Given the description of an element on the screen output the (x, y) to click on. 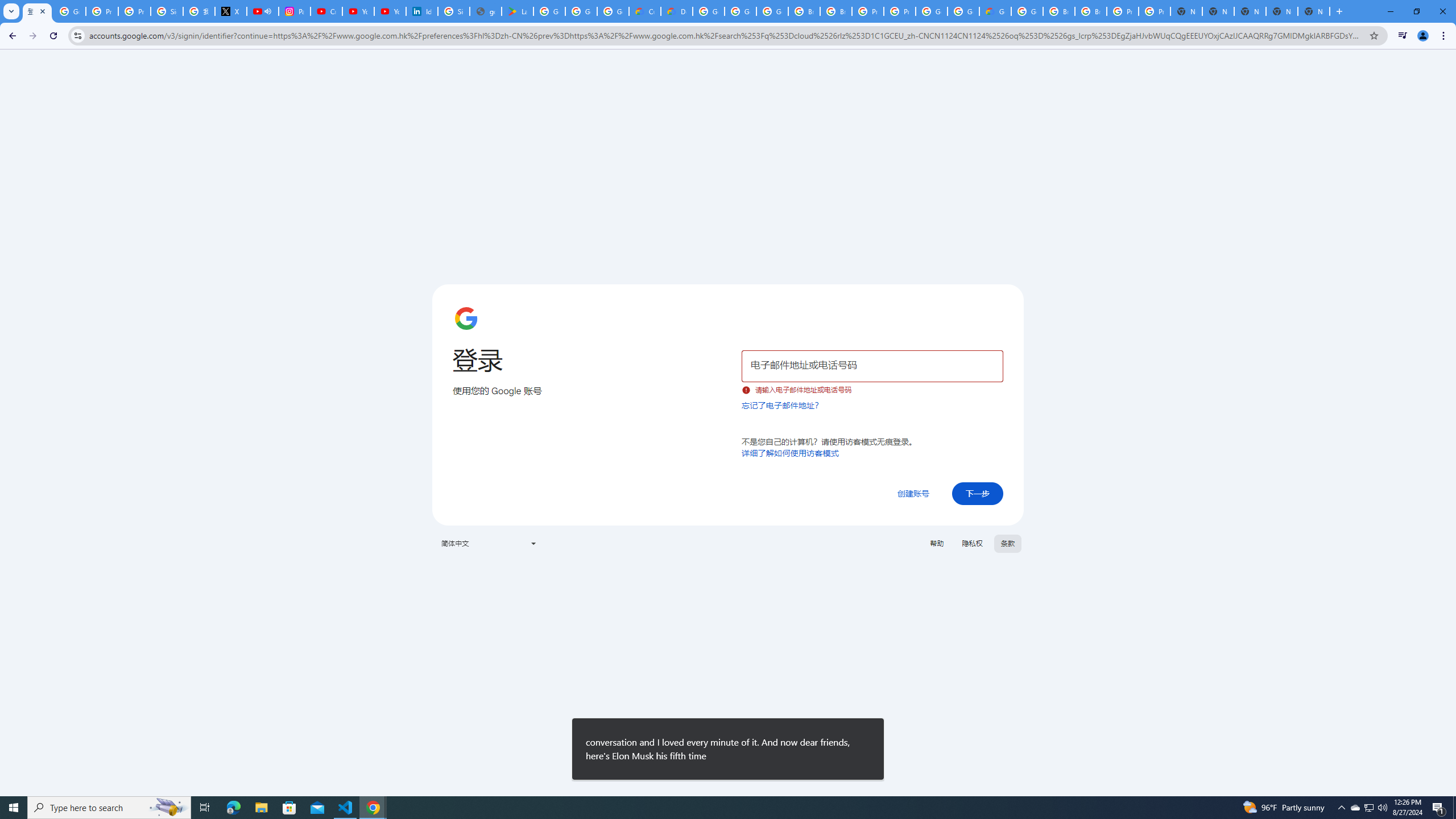
Google Cloud Platform (708, 11)
google_privacy_policy_en.pdf (485, 11)
Privacy Help Center - Policies Help (134, 11)
Last Shelter: Survival - Apps on Google Play (517, 11)
Google Workspace - Specific Terms (581, 11)
Privacy Help Center - Policies Help (101, 11)
